Given the description of an element on the screen output the (x, y) to click on. 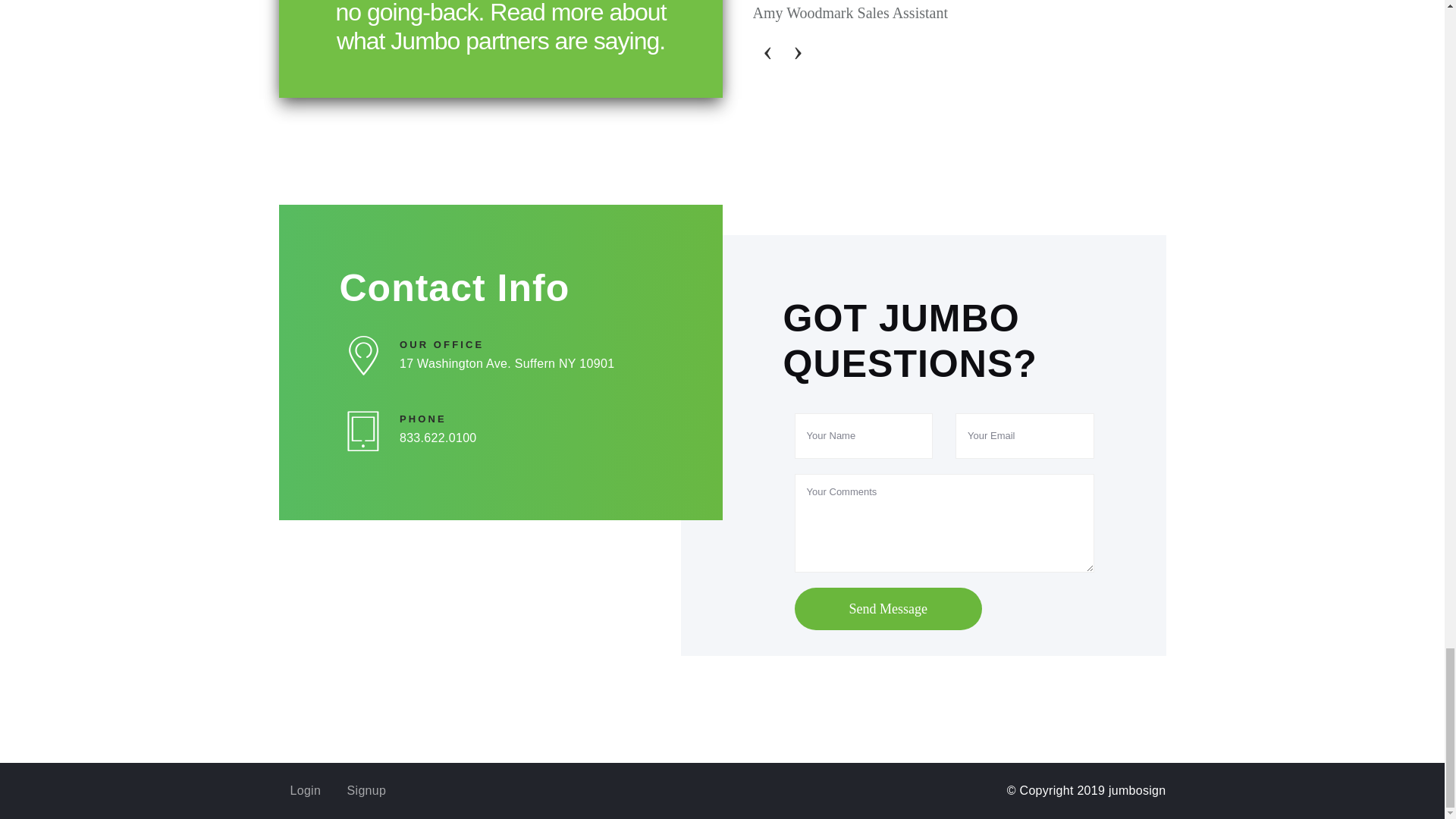
17 Washington Ave. Suffern NY 10901 (530, 363)
Login (304, 789)
Signup (367, 789)
833.622.0100 (530, 438)
Send Message (887, 608)
